Given the description of an element on the screen output the (x, y) to click on. 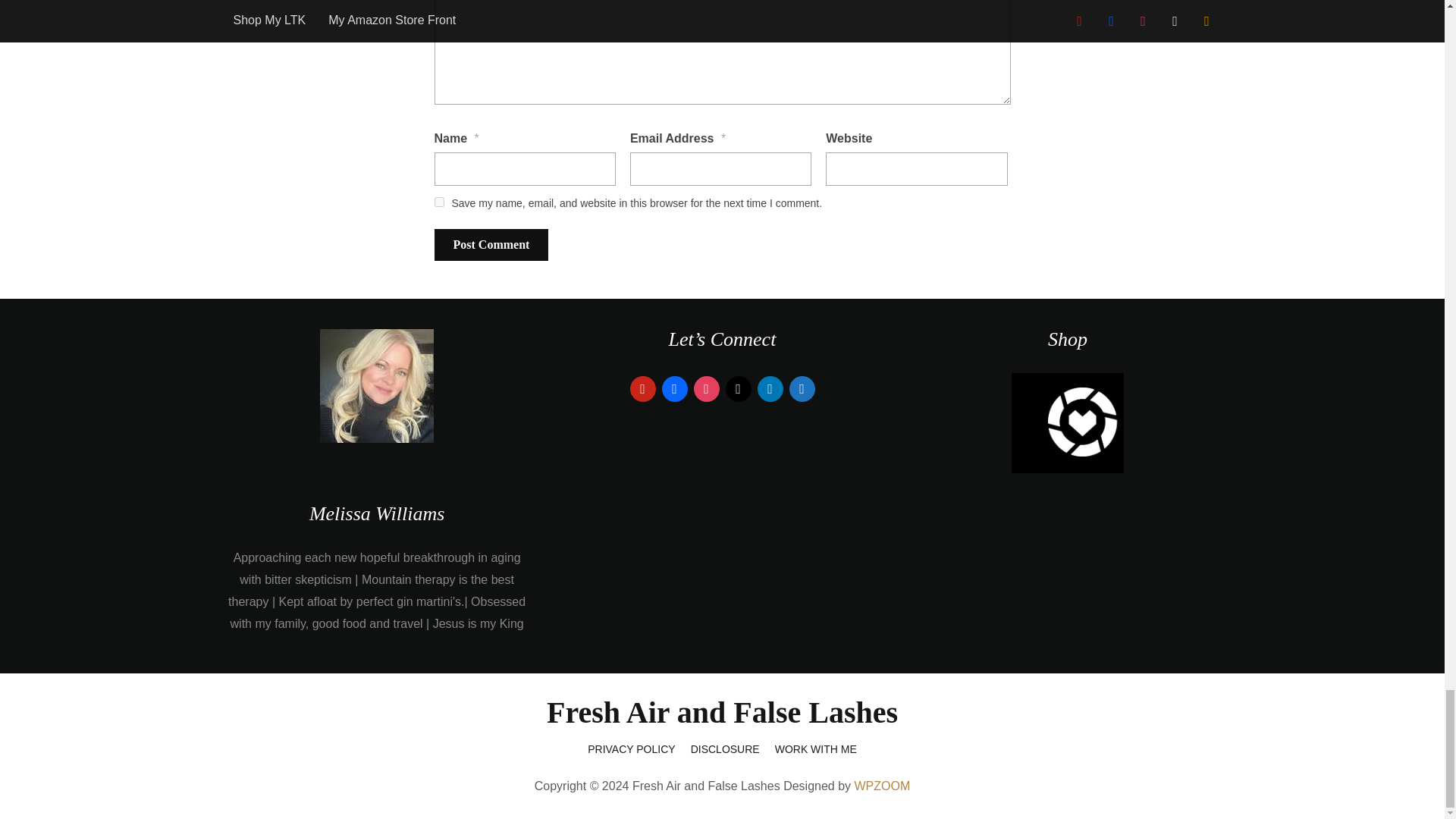
Facebook (674, 388)
yes (438, 202)
Post Comment (490, 245)
Instagram (706, 388)
